Given the description of an element on the screen output the (x, y) to click on. 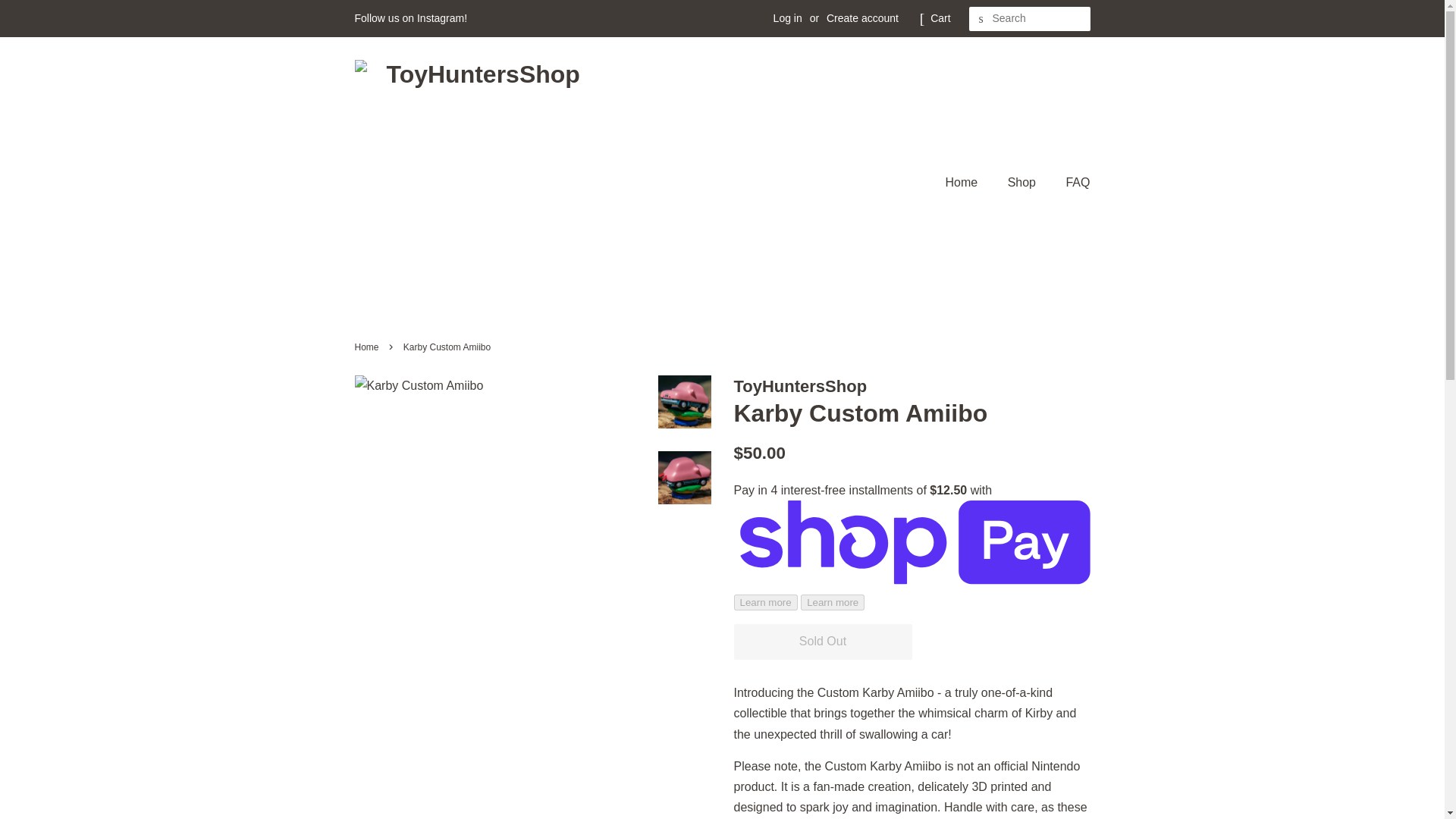
Shop (1023, 182)
Sold Out (822, 642)
Home (968, 182)
Home (368, 347)
Cart (940, 18)
Follow us on Instagram! (411, 18)
Log in (787, 18)
Back to the frontpage (368, 347)
Create account (862, 18)
FAQ (1071, 182)
